Given the description of an element on the screen output the (x, y) to click on. 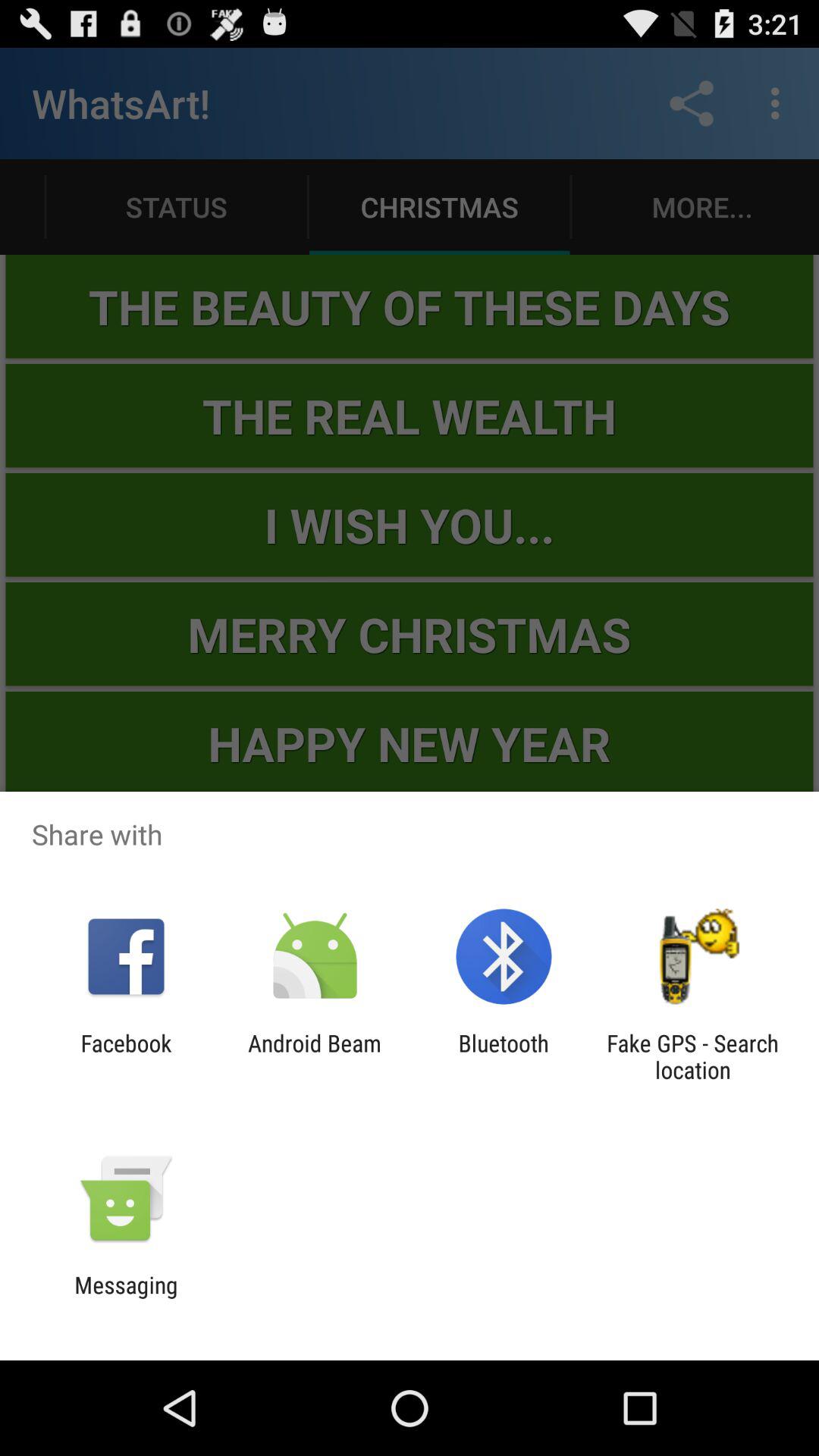
press item next to the fake gps search app (503, 1056)
